Given the description of an element on the screen output the (x, y) to click on. 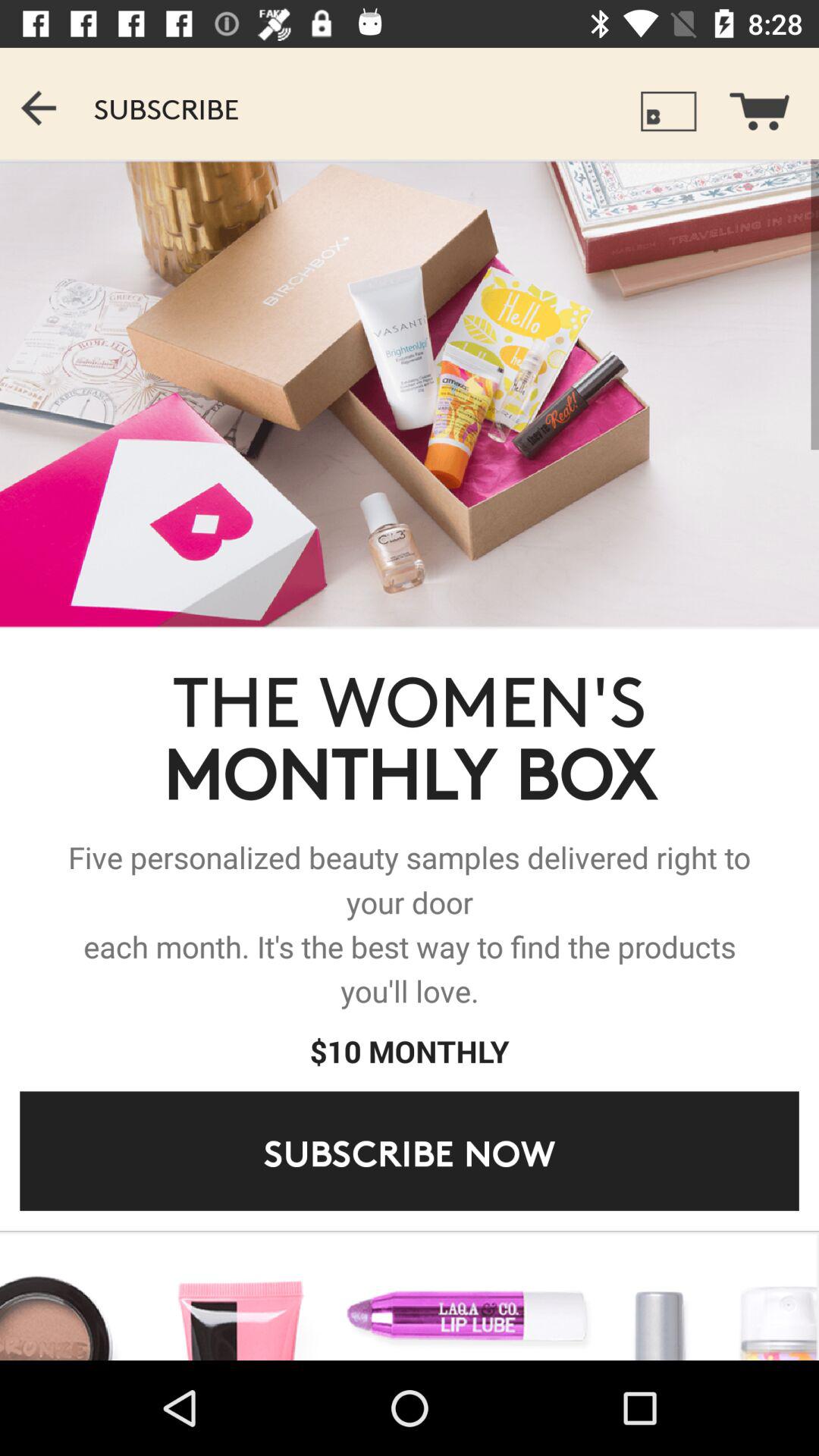
click on icon which is left side of the cart symbol (668, 111)
click on cart icon (769, 104)
select the subscribe now button (409, 1150)
